Given the description of an element on the screen output the (x, y) to click on. 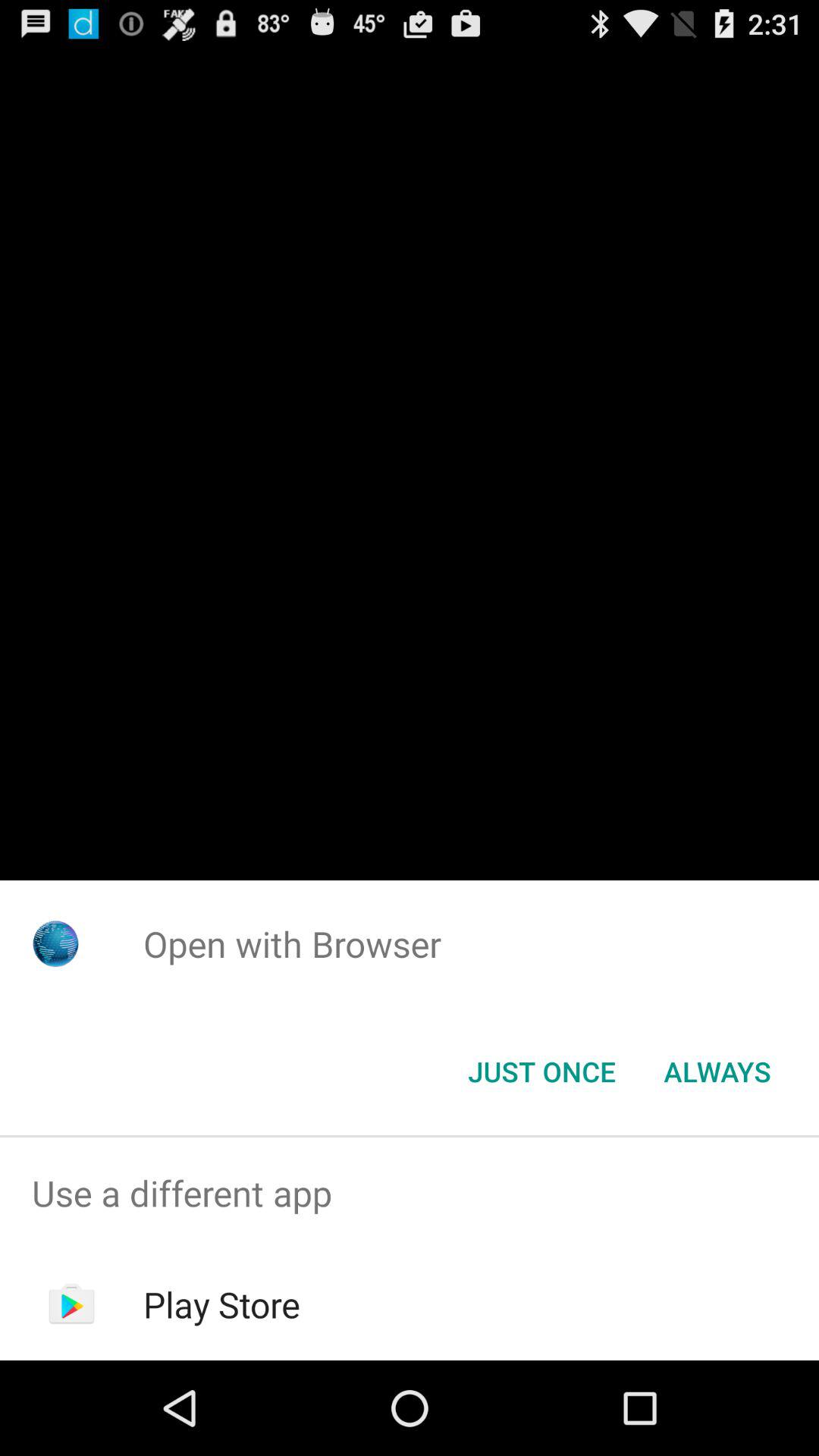
open the use a different (409, 1192)
